Given the description of an element on the screen output the (x, y) to click on. 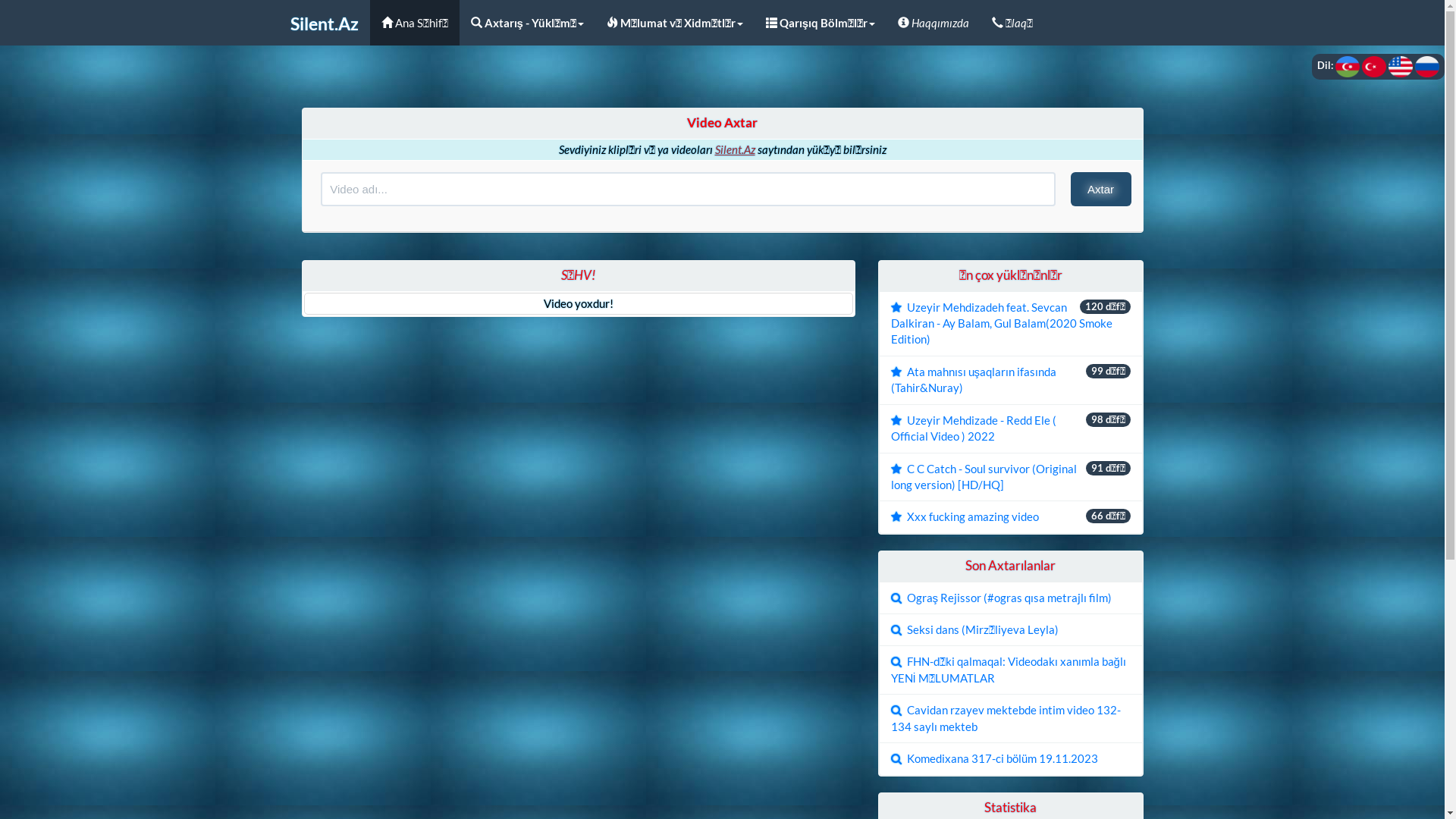
Axtar Element type: text (1100, 189)
Silent.Az Element type: text (324, 22)
